Given the description of an element on the screen output the (x, y) to click on. 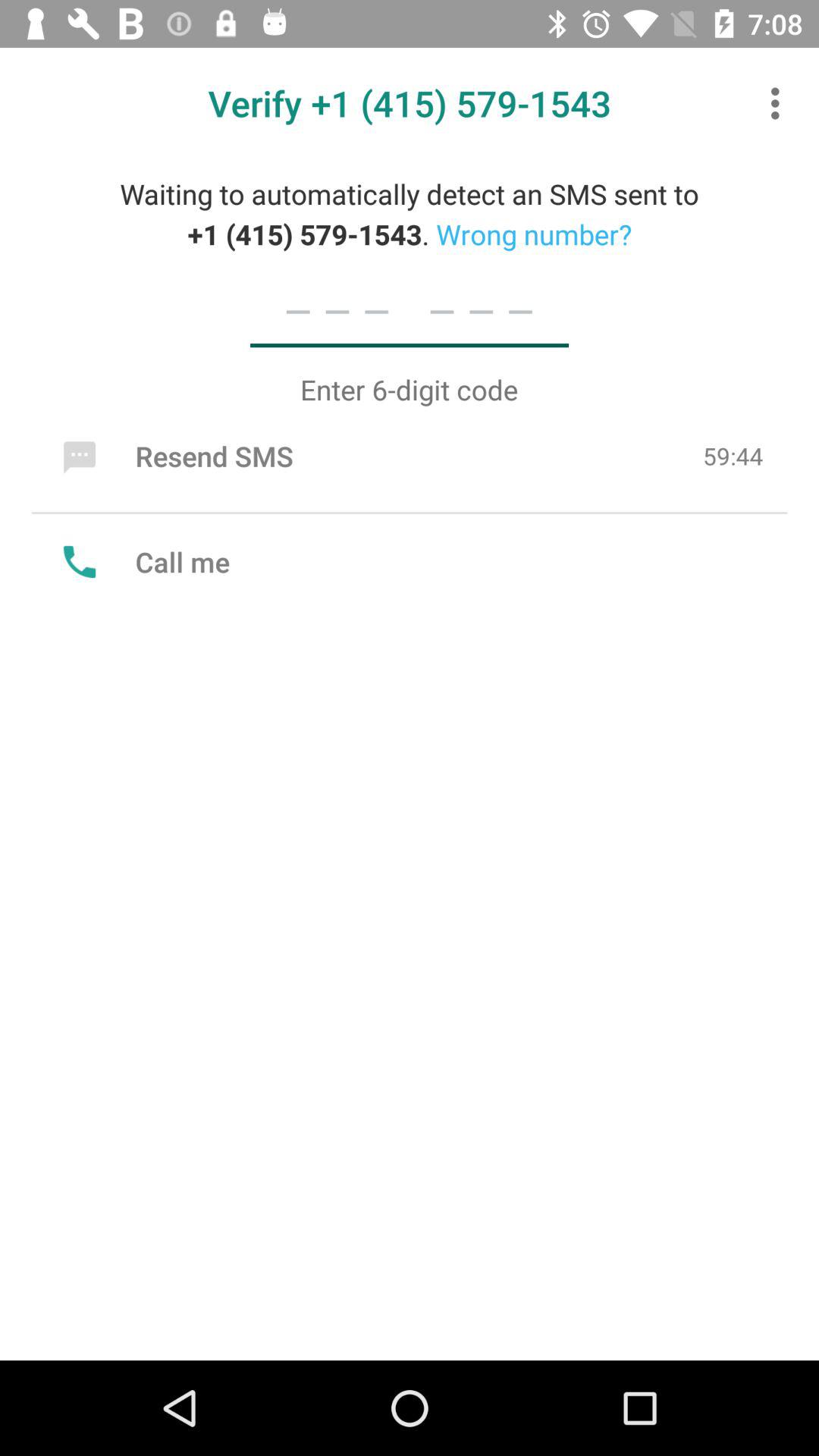
tap item at the top right corner (779, 103)
